Given the description of an element on the screen output the (x, y) to click on. 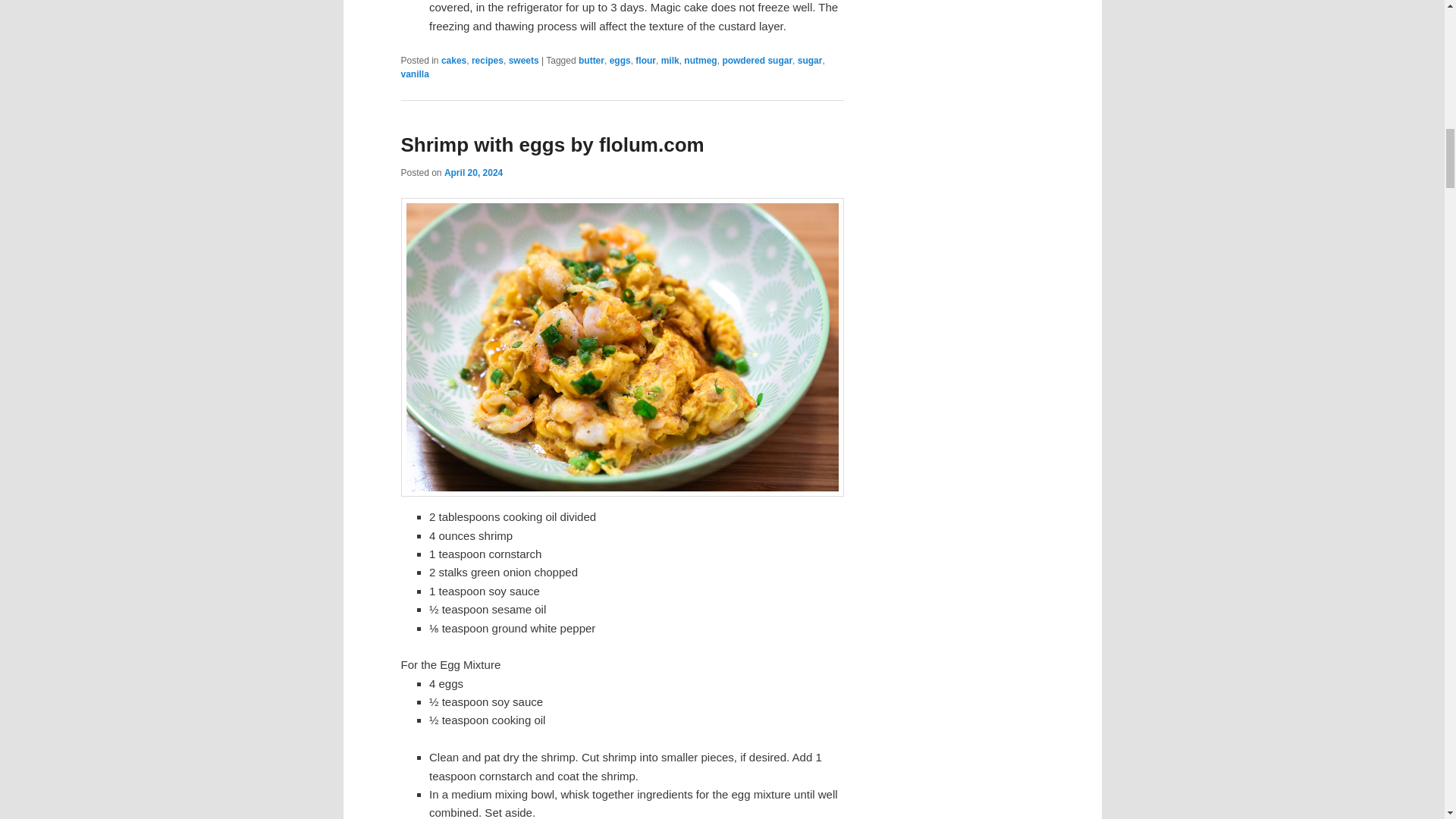
eggs (620, 60)
milk (670, 60)
recipes (487, 60)
12:02 pm (473, 172)
Shrimp with eggs by flolum.com (551, 144)
nutmeg (700, 60)
vanilla (414, 73)
powdered sugar (757, 60)
April 20, 2024 (473, 172)
cakes (453, 60)
flour (645, 60)
butter (591, 60)
sweets (523, 60)
sugar (809, 60)
